Given the description of an element on the screen output the (x, y) to click on. 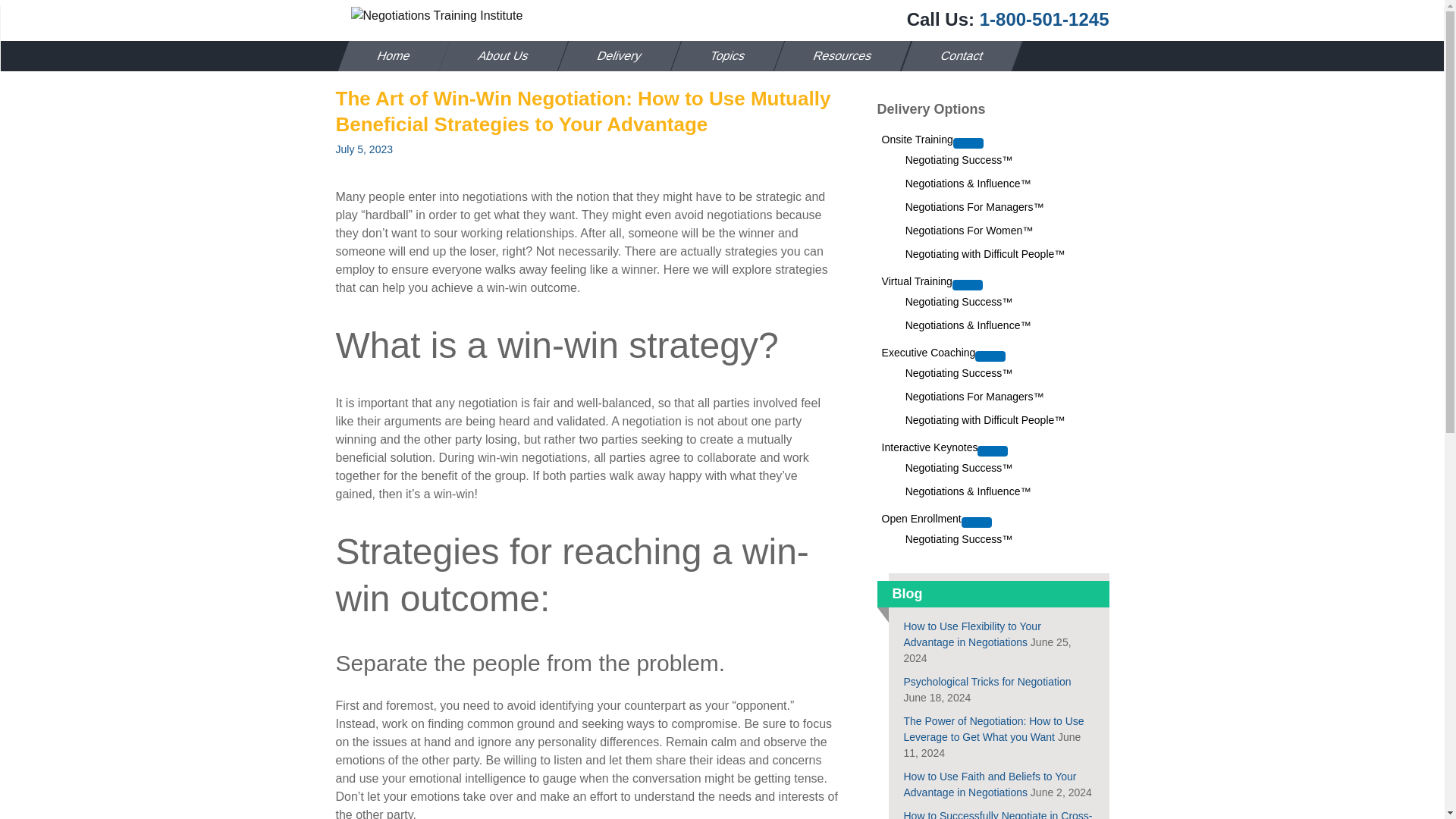
Delivery (613, 55)
Skip to content (374, 49)
About Us (498, 55)
Home (387, 55)
About Us (498, 55)
1-800-501-1245 (1044, 19)
Negotiations Training Institute (436, 15)
Delivery (613, 55)
Topics (722, 55)
Contact (955, 55)
Home (387, 55)
Skip to content (374, 49)
Negotiations Training Institute (435, 15)
Resources (836, 55)
1-800-501-1245 (1044, 19)
